Given the description of an element on the screen output the (x, y) to click on. 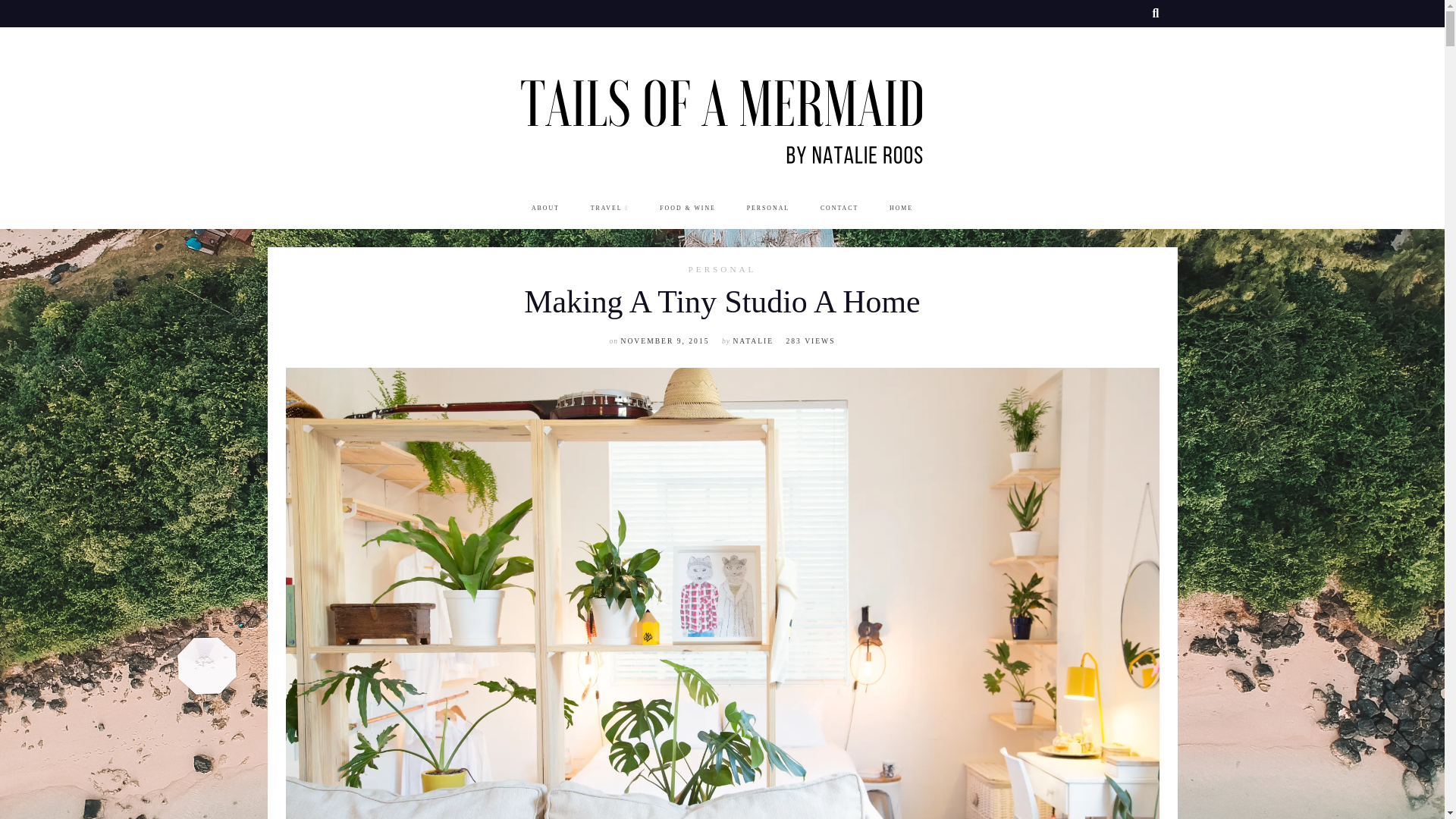
ABOUT (545, 208)
PERSONAL (767, 208)
NATALIE (752, 340)
TRAVEL (609, 208)
HOME (900, 208)
PERSONAL (722, 270)
CONTACT (840, 208)
